Given the description of an element on the screen output the (x, y) to click on. 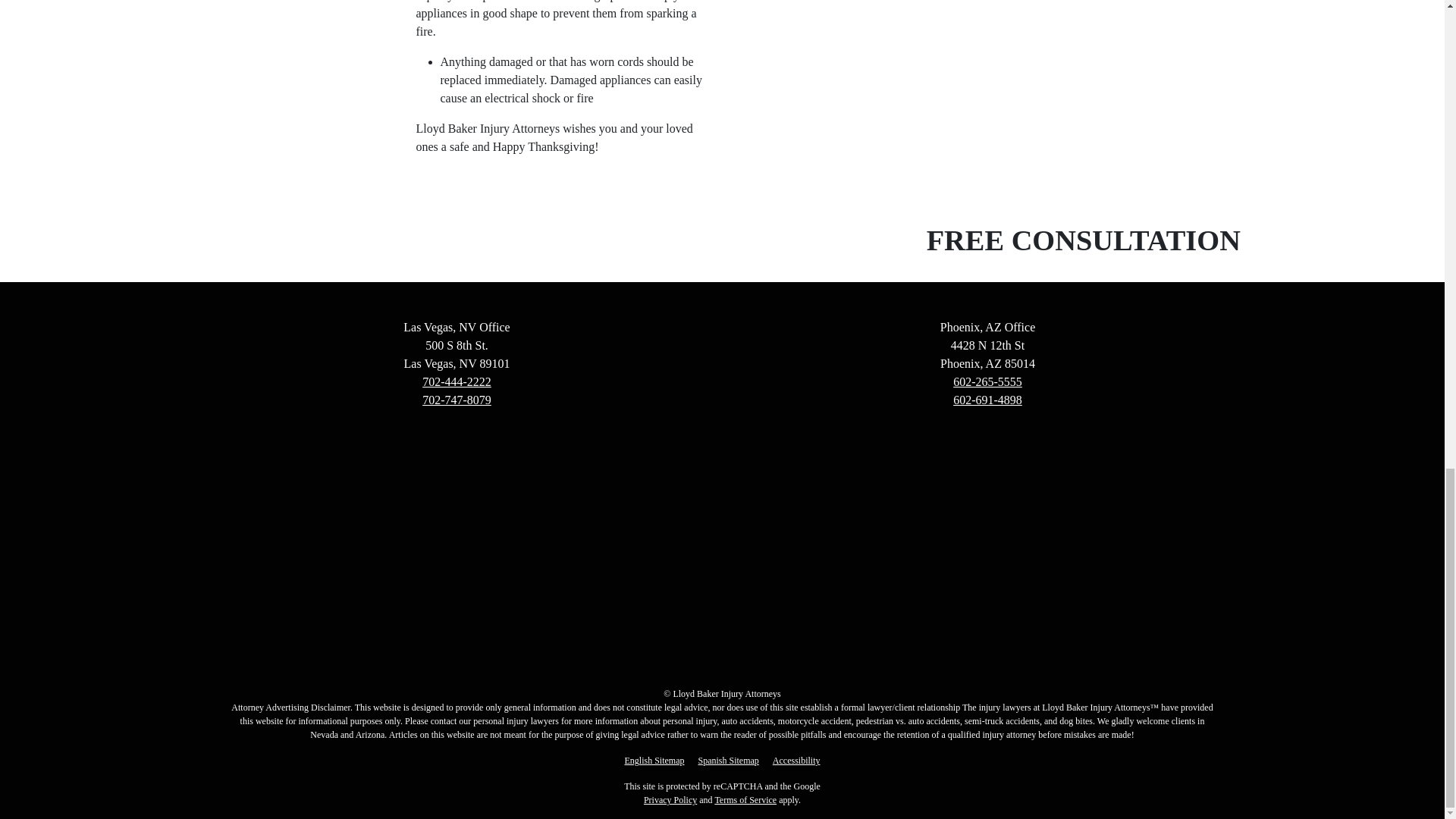
702-747-8079 (457, 399)
602-691-4898 (987, 399)
702-444-2222 (457, 381)
Spanish Sitemap (727, 760)
English Sitemap (654, 760)
602-265-5555 (987, 381)
